Given the description of an element on the screen output the (x, y) to click on. 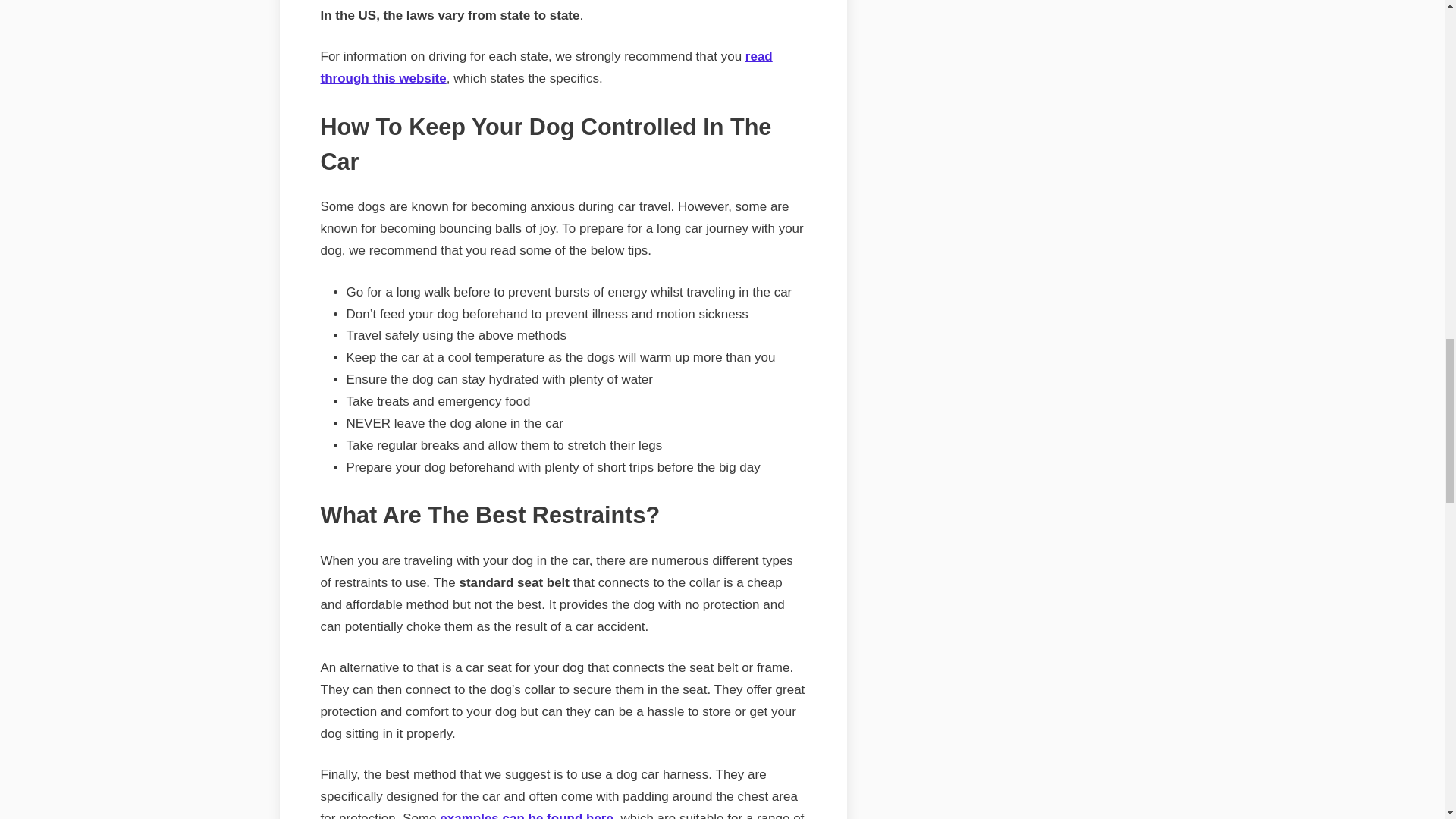
examples can be found here (525, 815)
read through this website (545, 67)
